Given the description of an element on the screen output the (x, y) to click on. 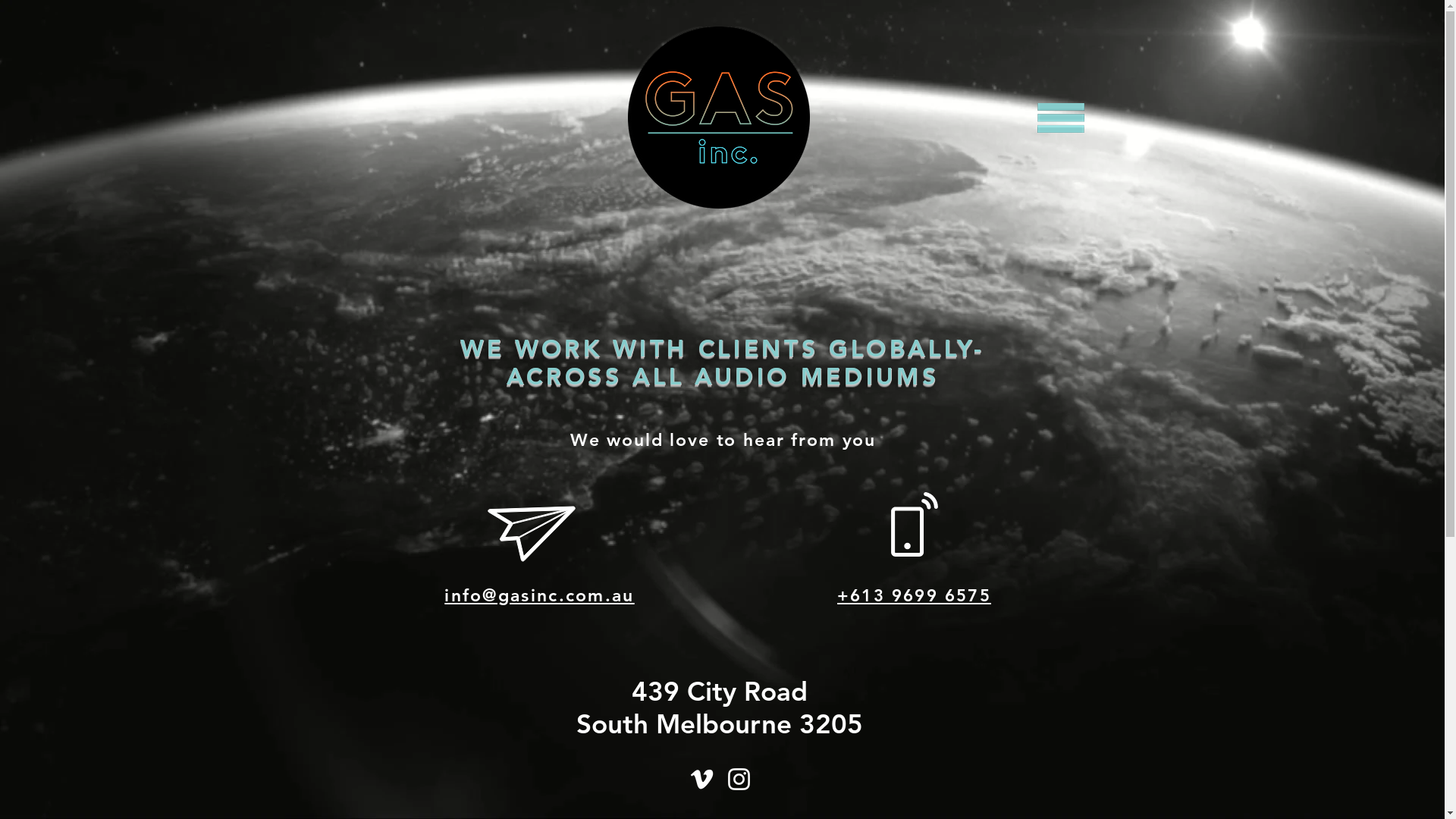
+613 9699 6575 Element type: text (914, 595)
info@gasinc.com.au Element type: text (538, 595)
